Given the description of an element on the screen output the (x, y) to click on. 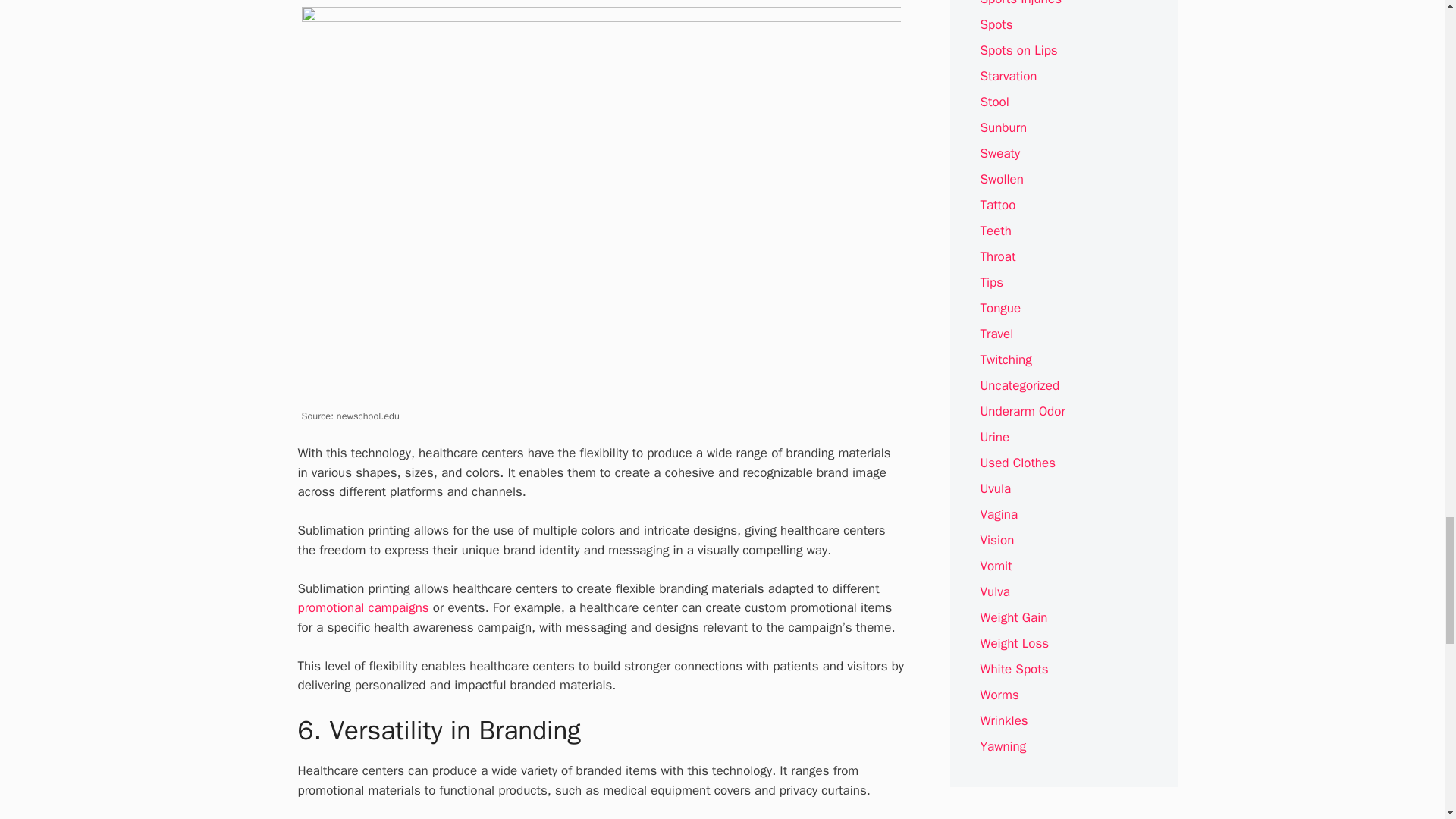
promotional campaigns (362, 607)
